Given the description of an element on the screen output the (x, y) to click on. 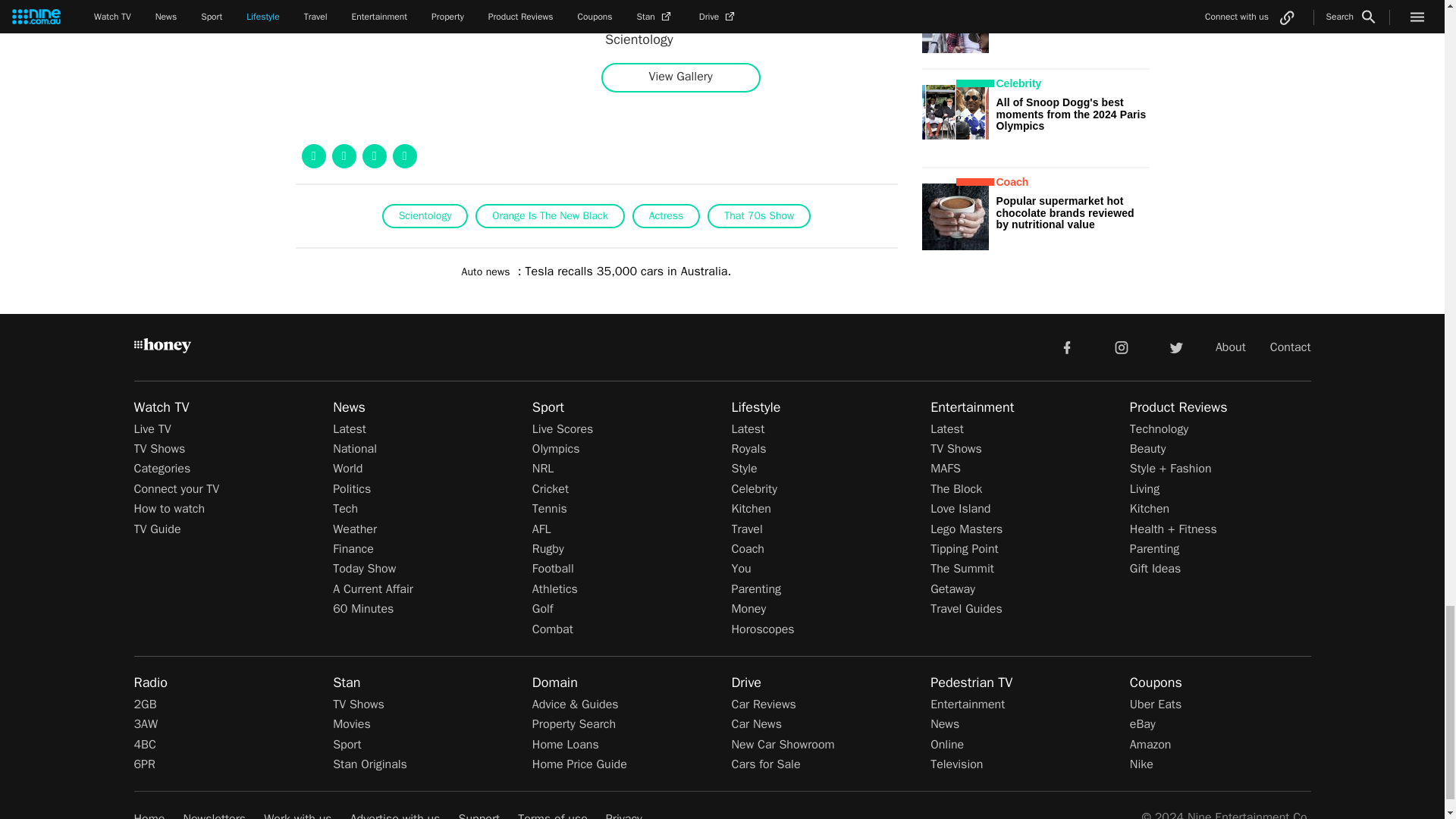
twitter (1175, 346)
facebook (1066, 346)
instagram (1121, 346)
